Given the description of an element on the screen output the (x, y) to click on. 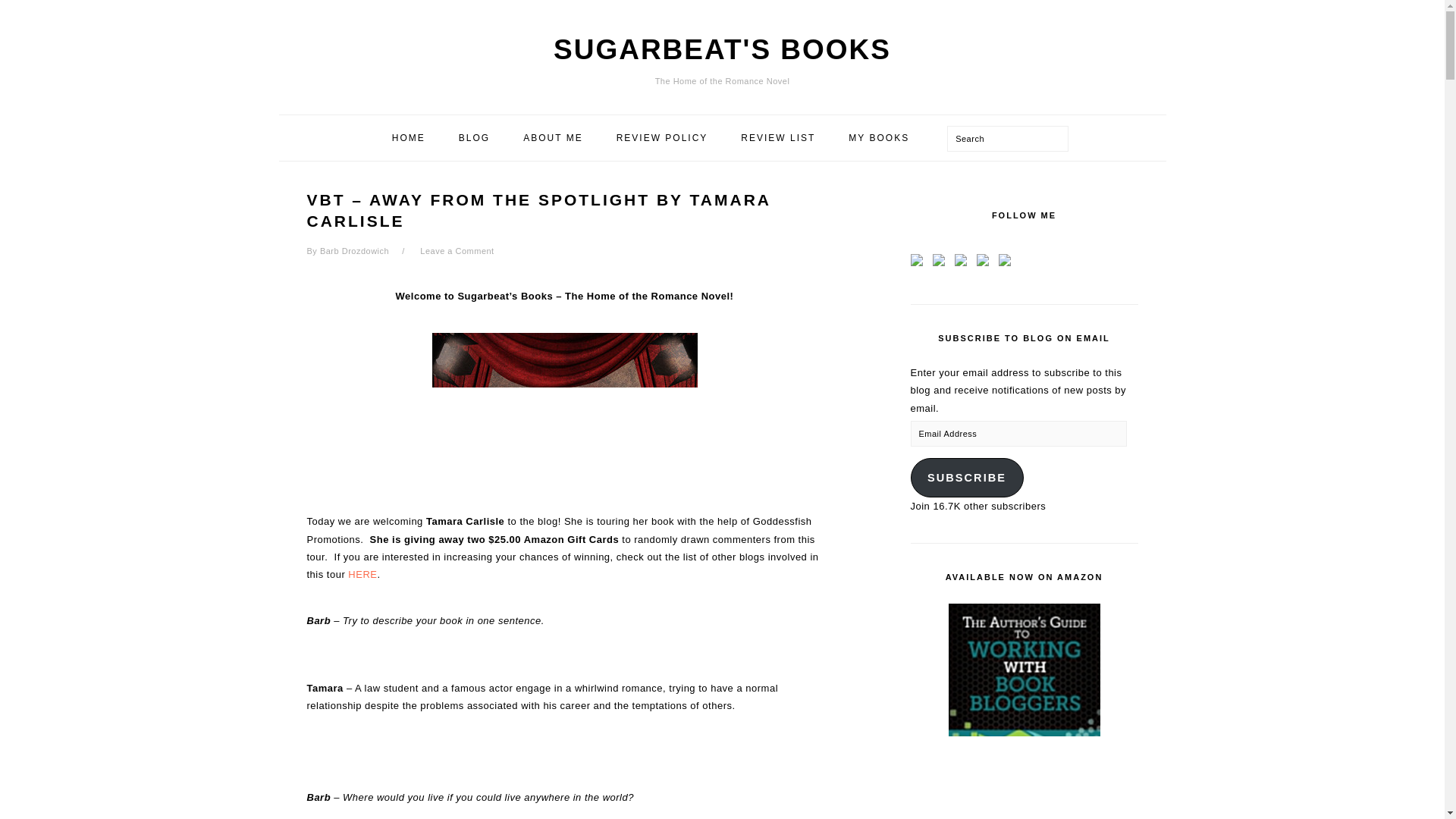
Follow us on Facebook (917, 259)
HOME (408, 137)
MY BOOKS (878, 137)
SUGARBEAT'S BOOKS (722, 49)
REVIEW LIST (778, 137)
Follow us on Twitter (941, 262)
BLOG (473, 137)
ABOUT ME (552, 137)
Follow us on Twitter (940, 259)
